Given the description of an element on the screen output the (x, y) to click on. 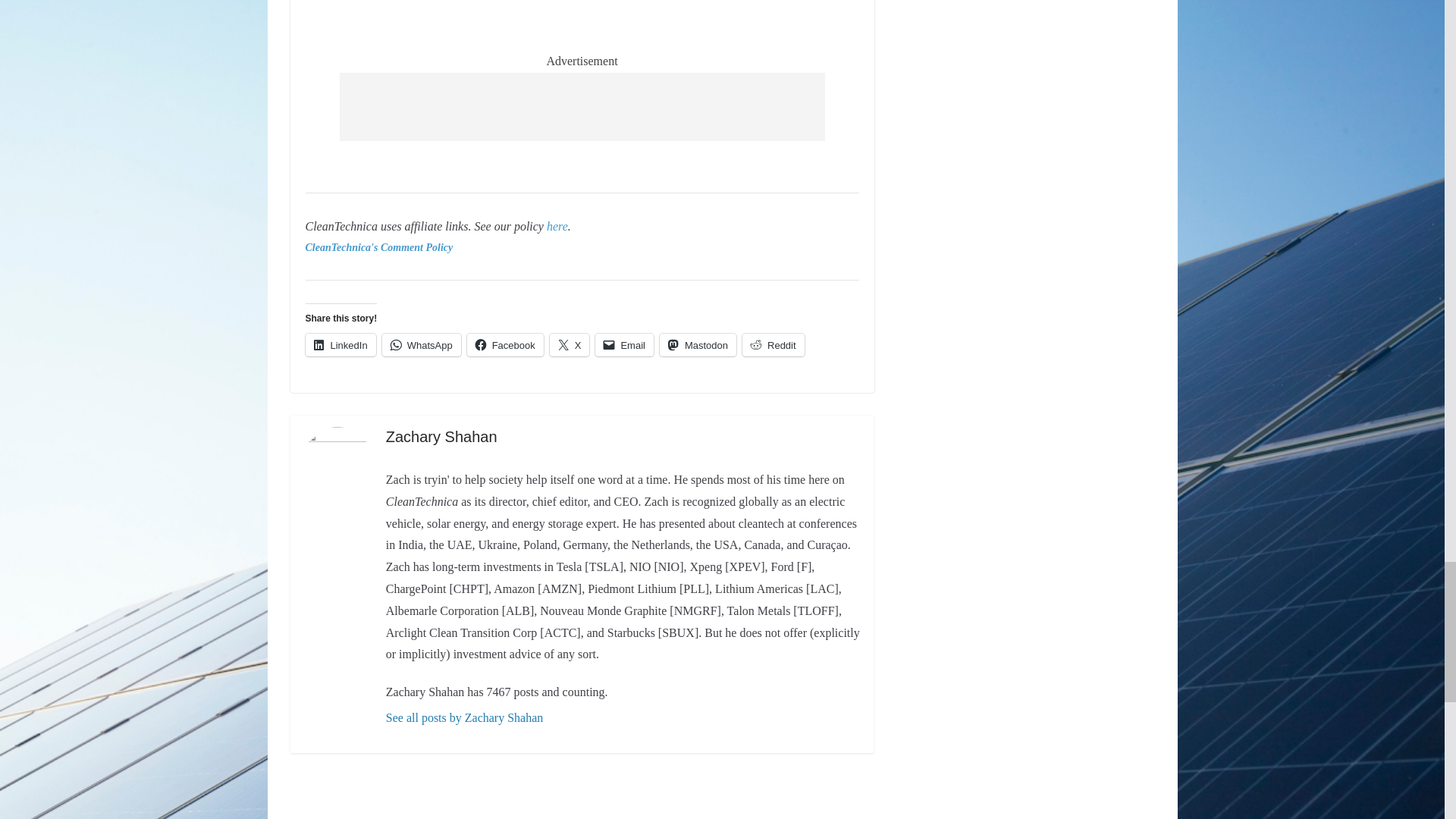
Click to email a link to a friend (624, 344)
Click to share on Reddit (773, 344)
Click to share on X (569, 344)
Click to share on Facebook (505, 344)
Click to share on LinkedIn (339, 344)
Click to share on WhatsApp (421, 344)
Click to share on Mastodon (697, 344)
